Given the description of an element on the screen output the (x, y) to click on. 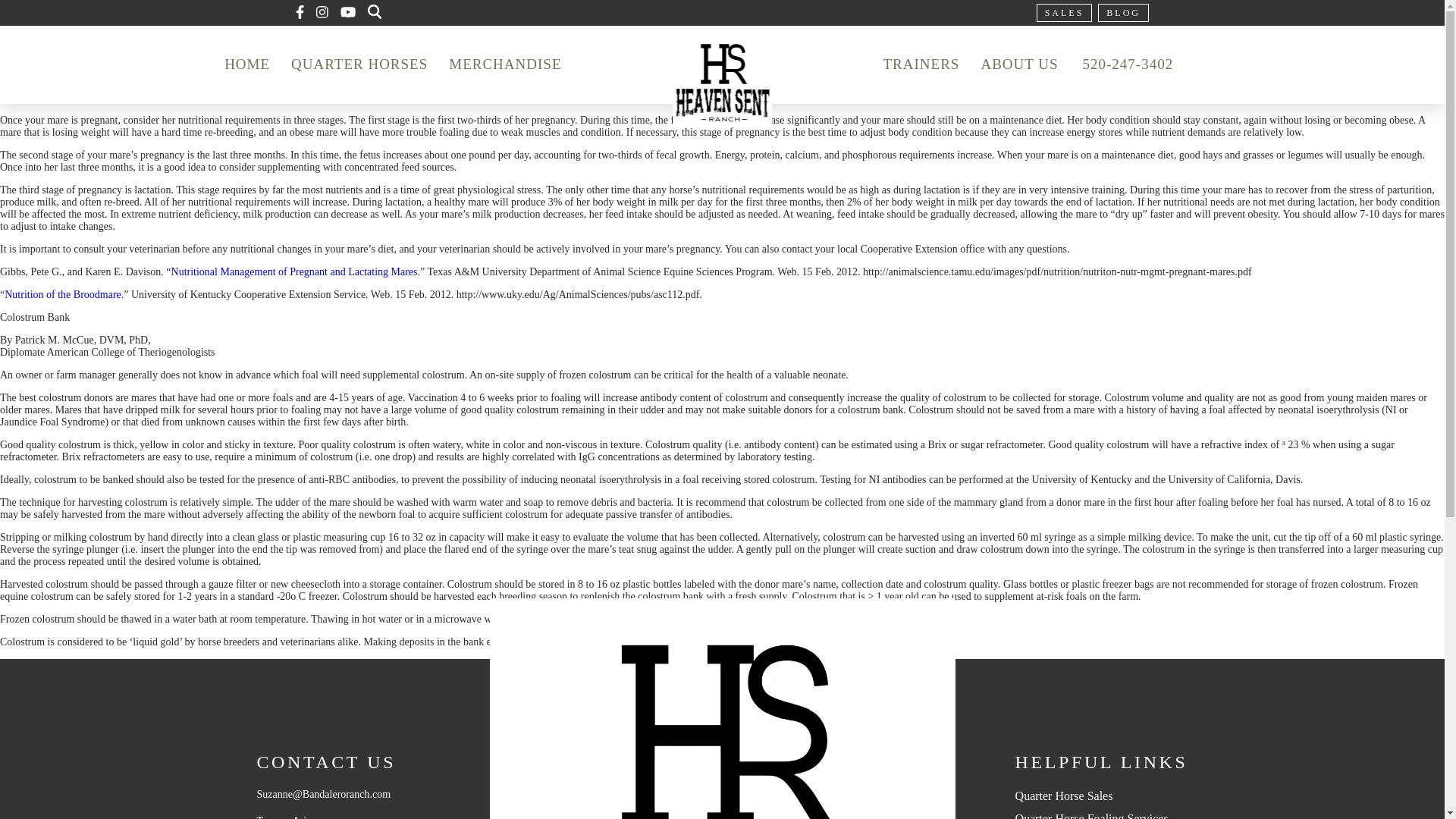
QUARTER HORSES (359, 64)
BLOG (1122, 13)
SALES (1064, 13)
HOME (247, 64)
Nutrition of the Broodmare (62, 294)
ABOUT US (1019, 64)
MERCHANDISE (504, 64)
Quarter Horse Foaling Services (1091, 815)
Quarter Horse Sales (1063, 795)
TRAINERS (920, 64)
520-247-3402 (1128, 64)
Nutritional Management of Pregnant and Lactating Mares (294, 271)
